Given the description of an element on the screen output the (x, y) to click on. 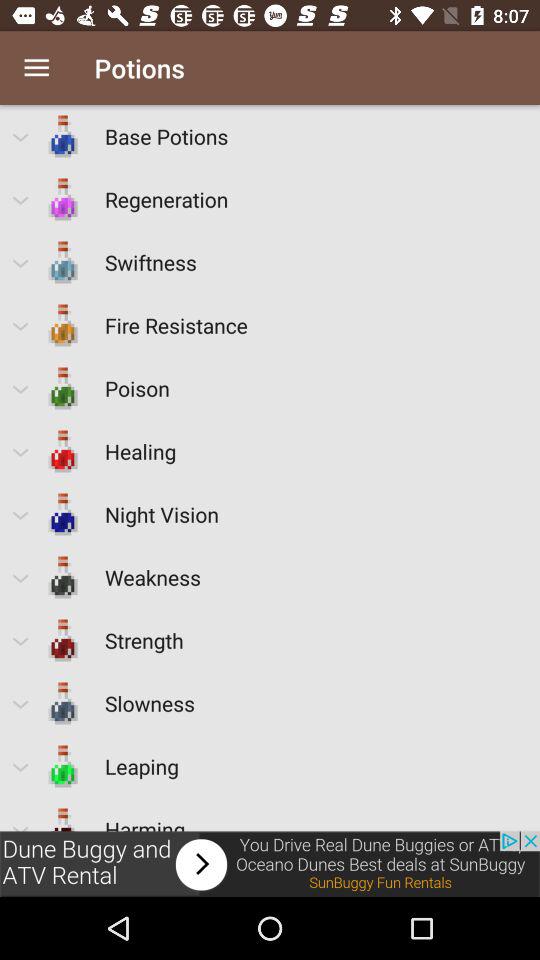
view advertisement (270, 864)
